Given the description of an element on the screen output the (x, y) to click on. 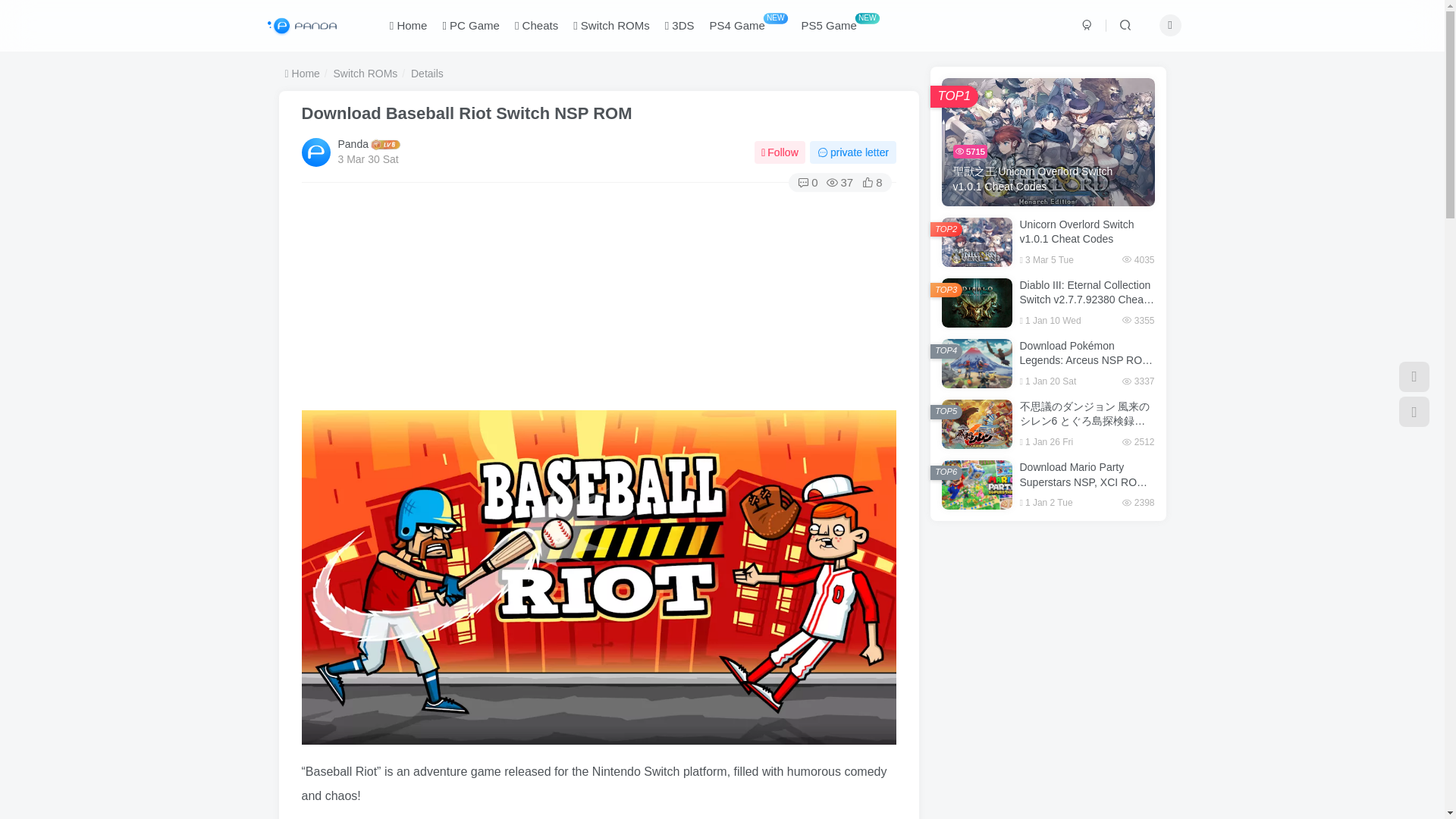
Home (302, 73)
Advertisement (1048, 780)
PC Game (469, 25)
Cheats (536, 25)
private letter (852, 152)
Follow (779, 152)
Advertisement (598, 304)
Download Baseball Riot Switch NSP ROM (466, 113)
Advertisement (1048, 630)
Panda (352, 144)
Home (408, 25)
Switch ROMs (365, 73)
PS4 GameNEW (747, 25)
0 (806, 182)
PS5 GameNEW (839, 25)
